Given the description of an element on the screen output the (x, y) to click on. 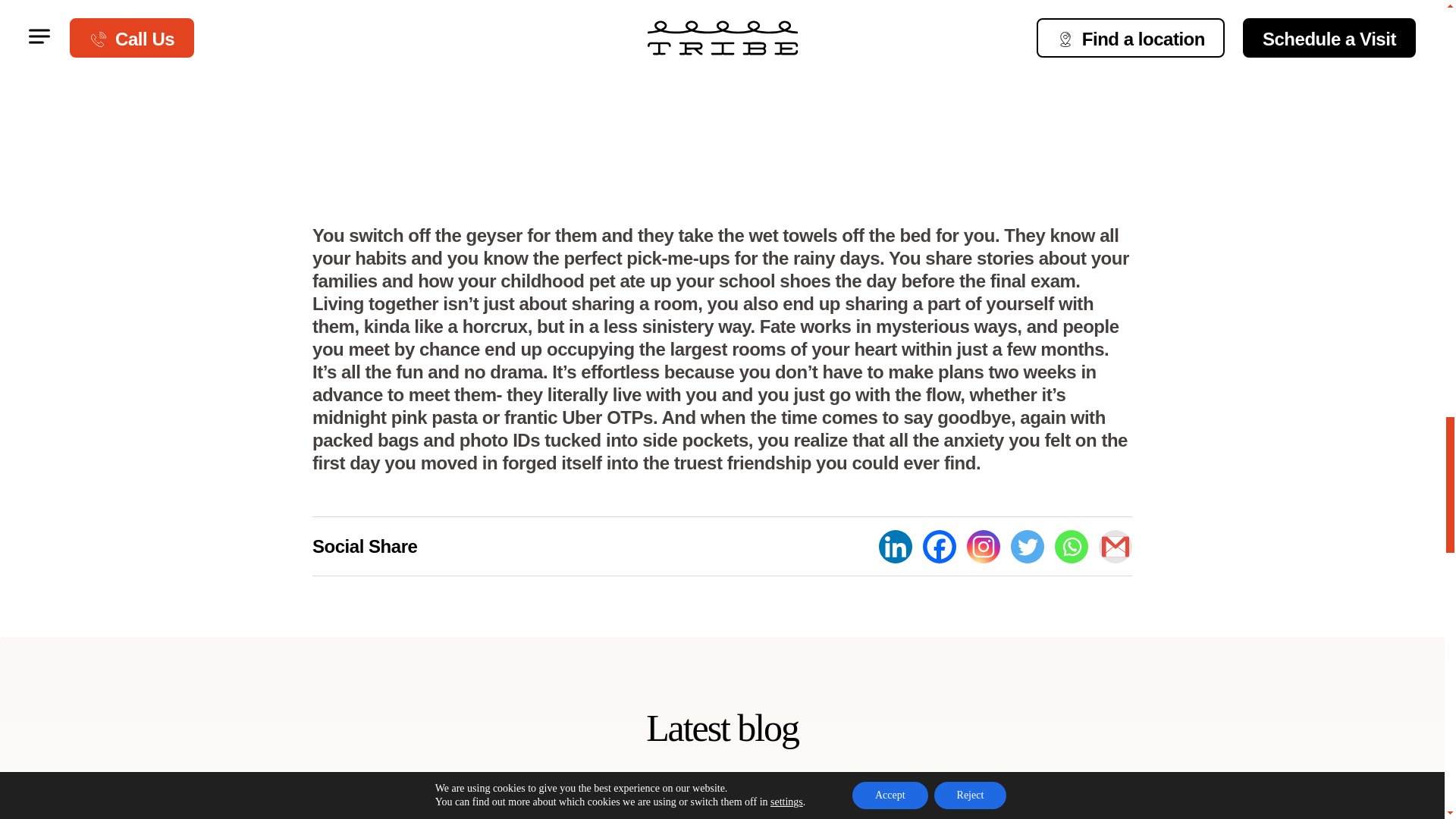
Google Gmail (1115, 546)
Instagram (983, 546)
Twitter (1026, 546)
Whatsapp (1070, 546)
Facebook (939, 546)
Linkedin (895, 546)
